Given the description of an element on the screen output the (x, y) to click on. 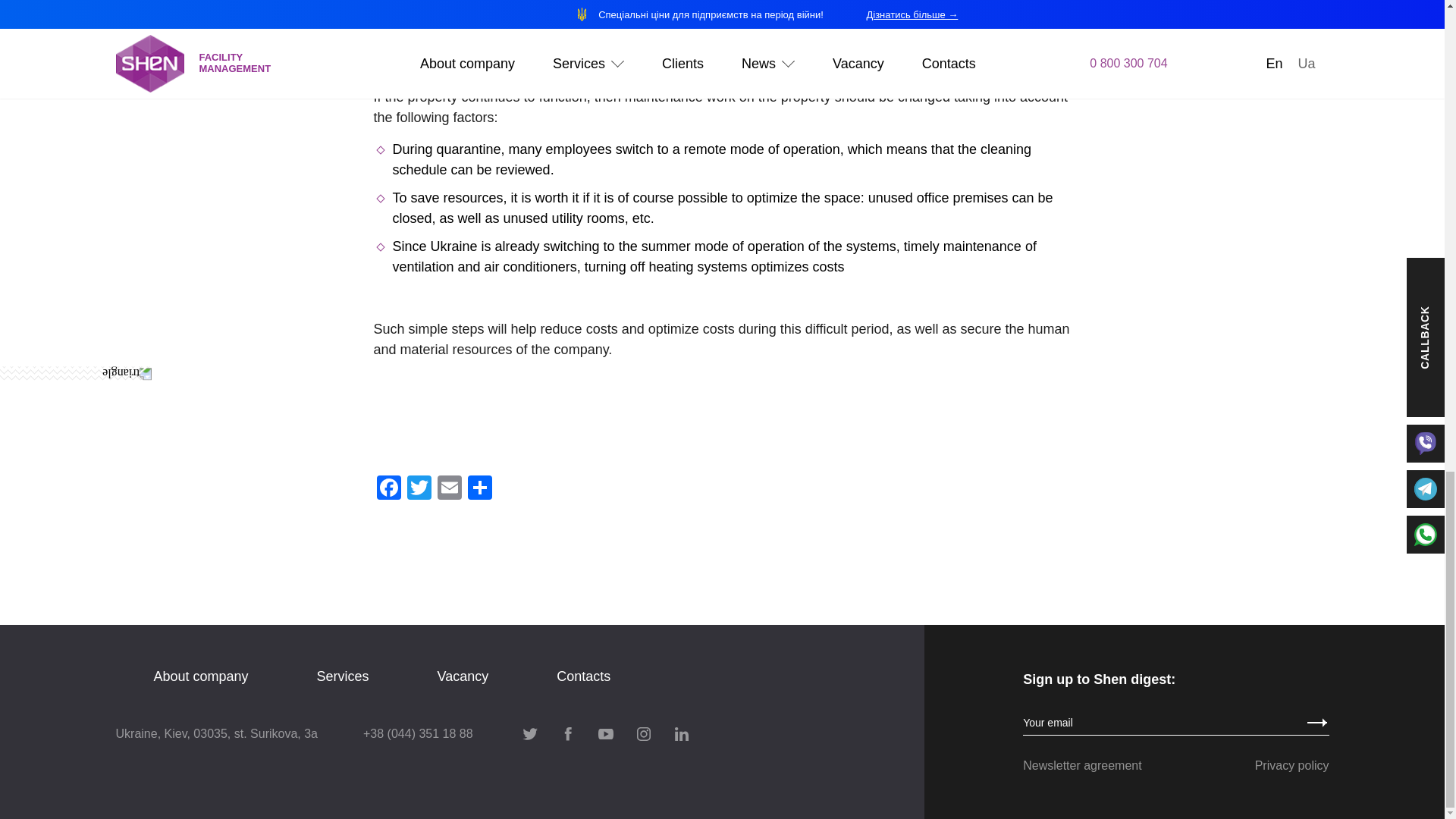
Services (343, 676)
Facebook (387, 489)
Vacancy (463, 676)
Twitter (418, 489)
Email (448, 489)
Contacts (583, 676)
About company (199, 676)
Email (448, 489)
Twitter (418, 489)
Facebook (387, 489)
Share (479, 489)
